Given the description of an element on the screen output the (x, y) to click on. 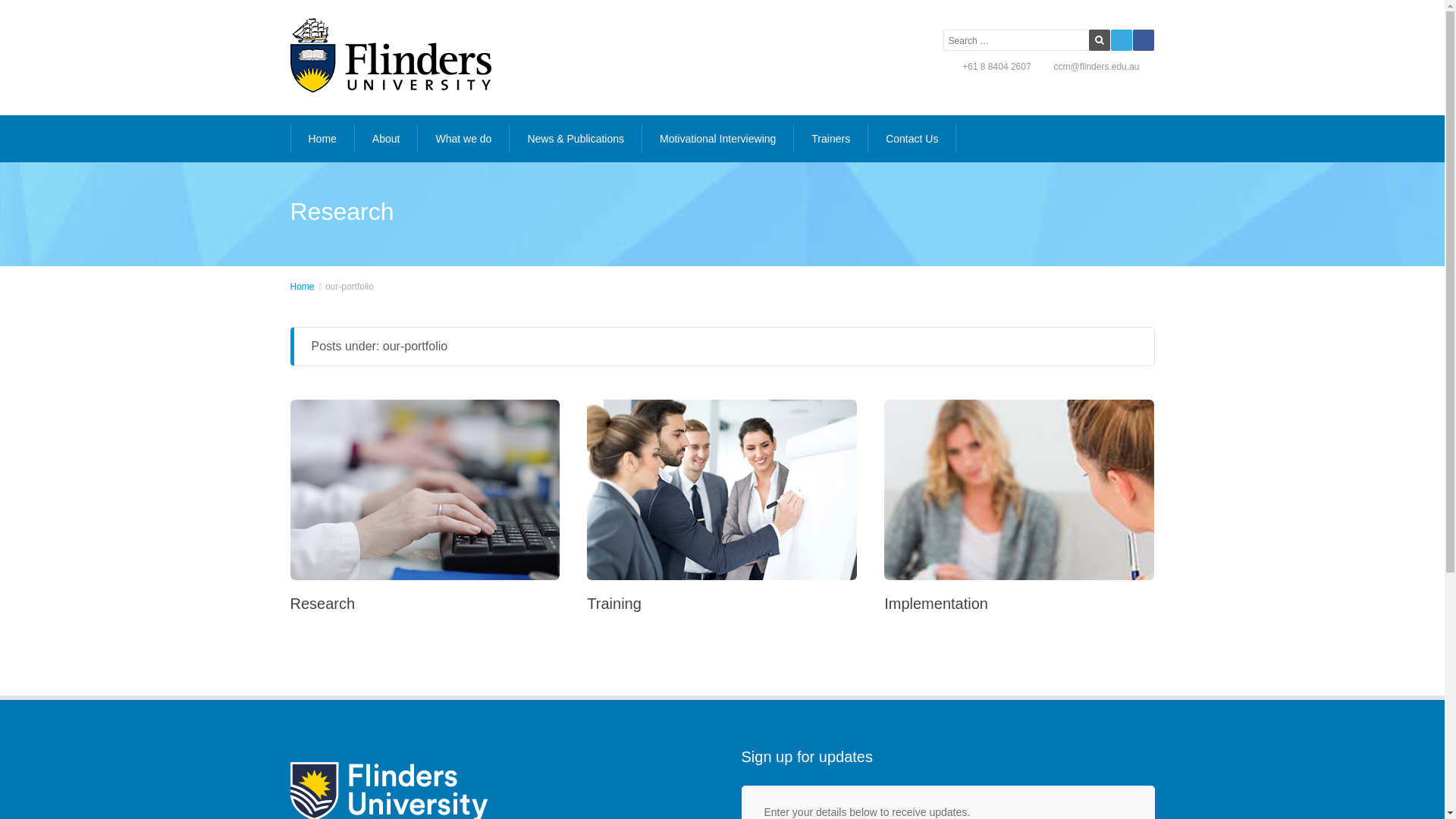
Implementation Element type: text (936, 603)
Contact Us Element type: text (911, 138)
Home Element type: text (301, 286)
Search Element type: text (1099, 39)
What we do Element type: text (462, 138)
News & Publications Element type: text (574, 138)
Research Element type: text (321, 603)
Trainers Element type: text (830, 138)
ccm@flinders.edu.au Element type: text (1096, 66)
Home Element type: text (321, 138)
Training Element type: text (613, 603)
Motivational Interviewing Element type: text (717, 138)
About Element type: text (385, 138)
